Given the description of an element on the screen output the (x, y) to click on. 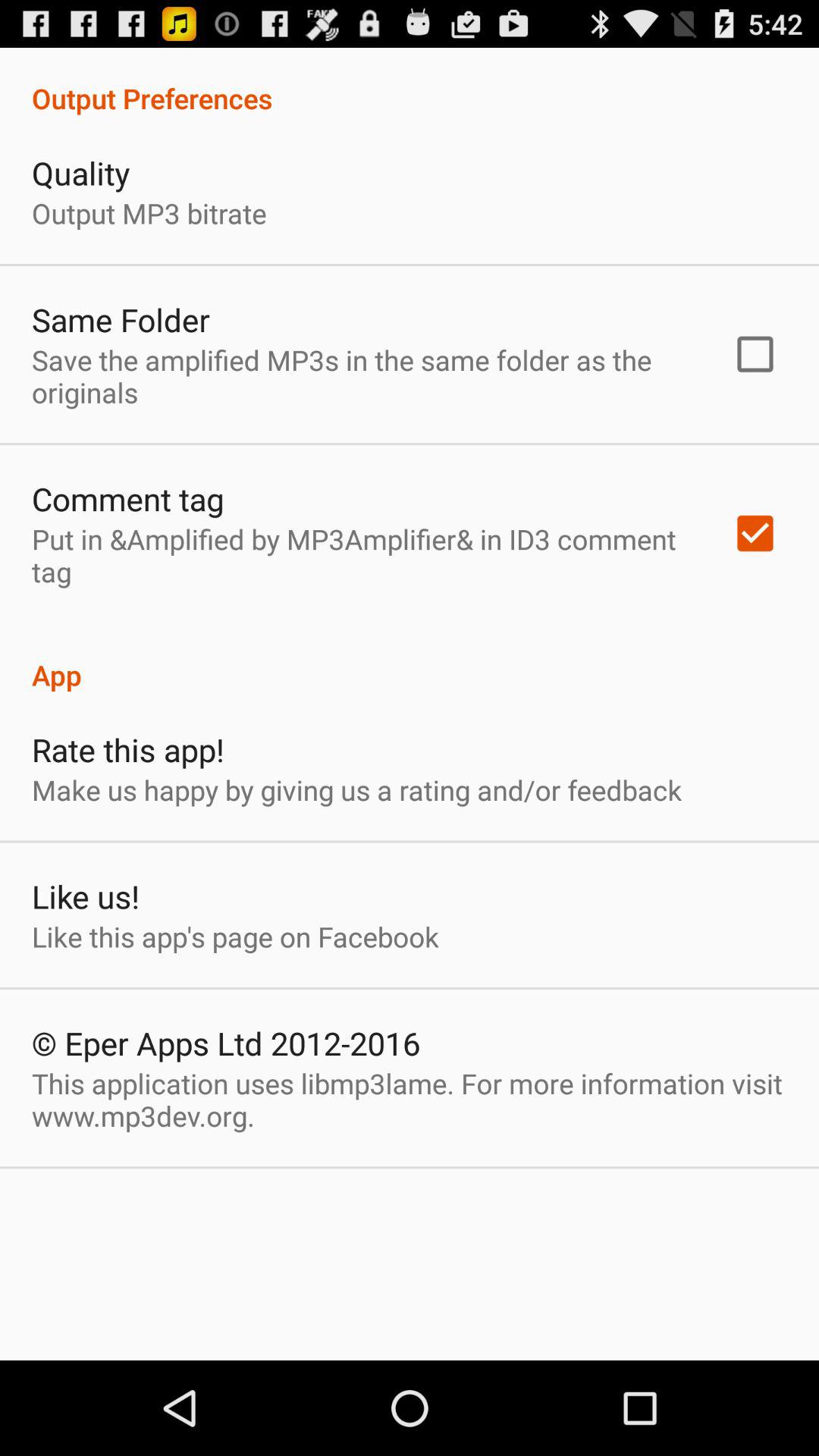
swipe until save the amplified icon (361, 376)
